Given the description of an element on the screen output the (x, y) to click on. 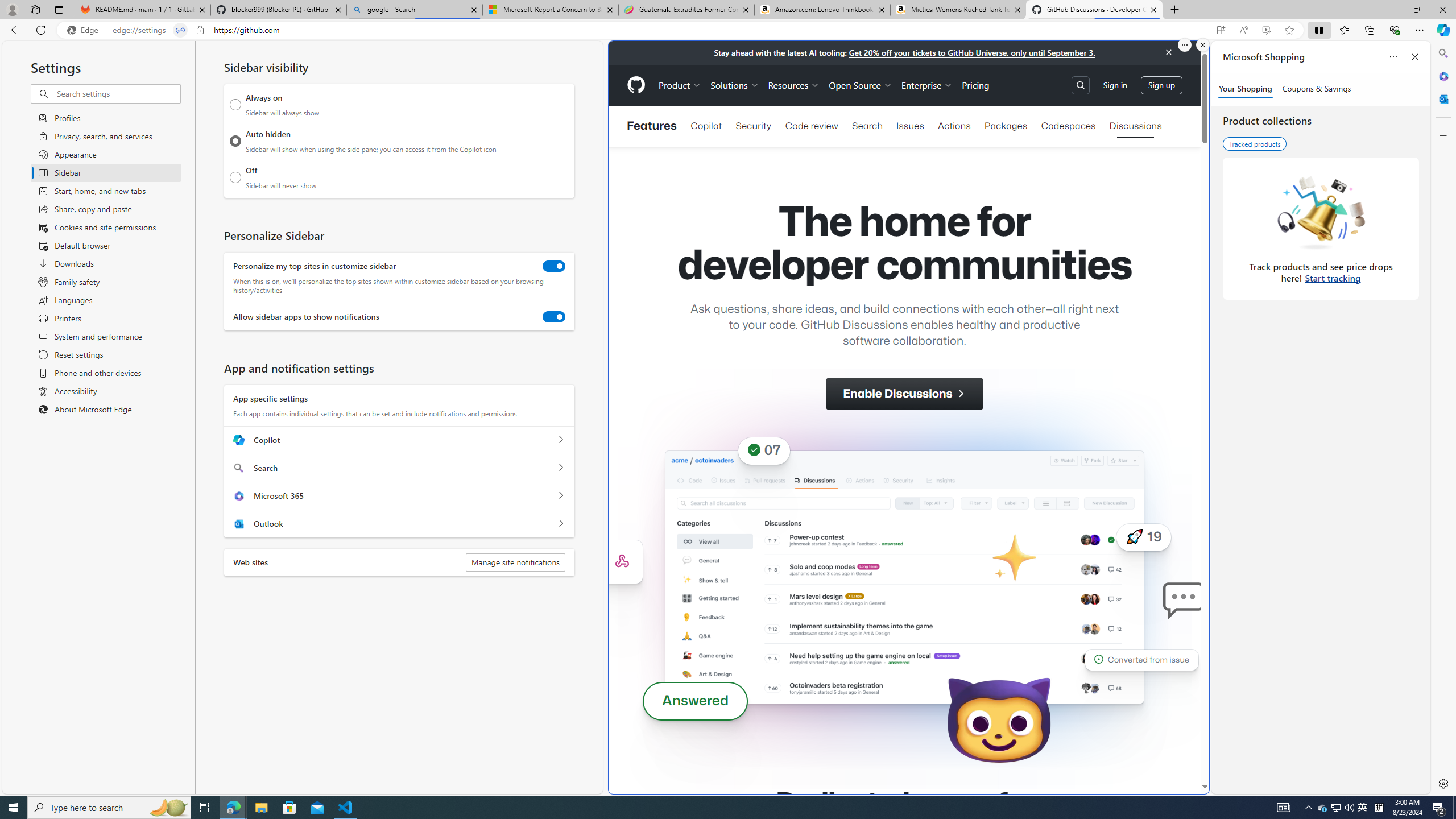
Edge (84, 29)
Open Source (860, 84)
Class: octicon arrow-symbol-mktg (959, 393)
Pricing (975, 84)
Issues (910, 125)
Resources (793, 84)
Codespaces (1068, 125)
